Given the description of an element on the screen output the (x, y) to click on. 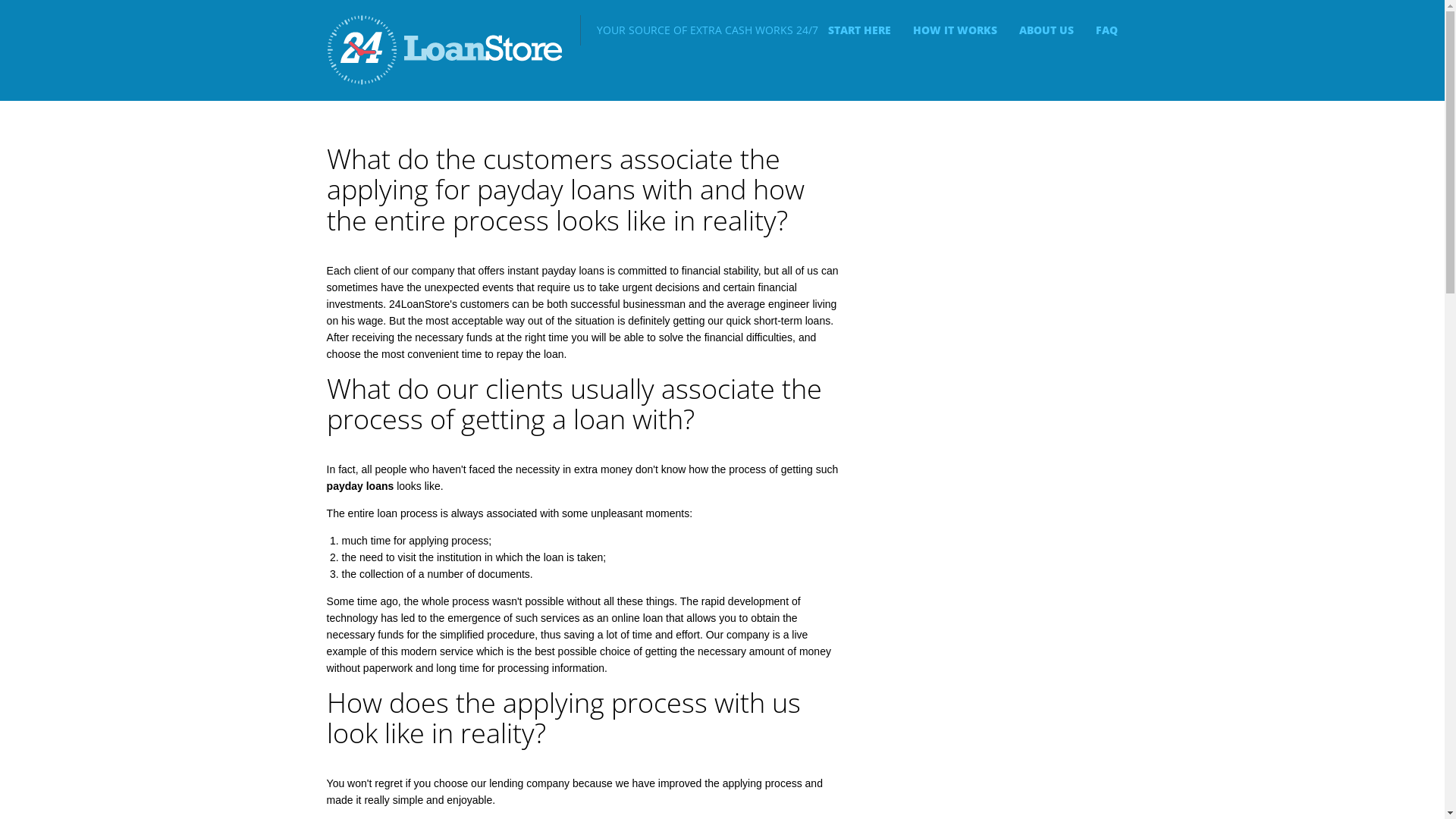
HOW IT WORKS Element type: text (955, 29)
ABOUT US Element type: text (1046, 29)
START HERE Element type: text (859, 29)
FAQ Element type: text (1106, 29)
